Given the description of an element on the screen output the (x, y) to click on. 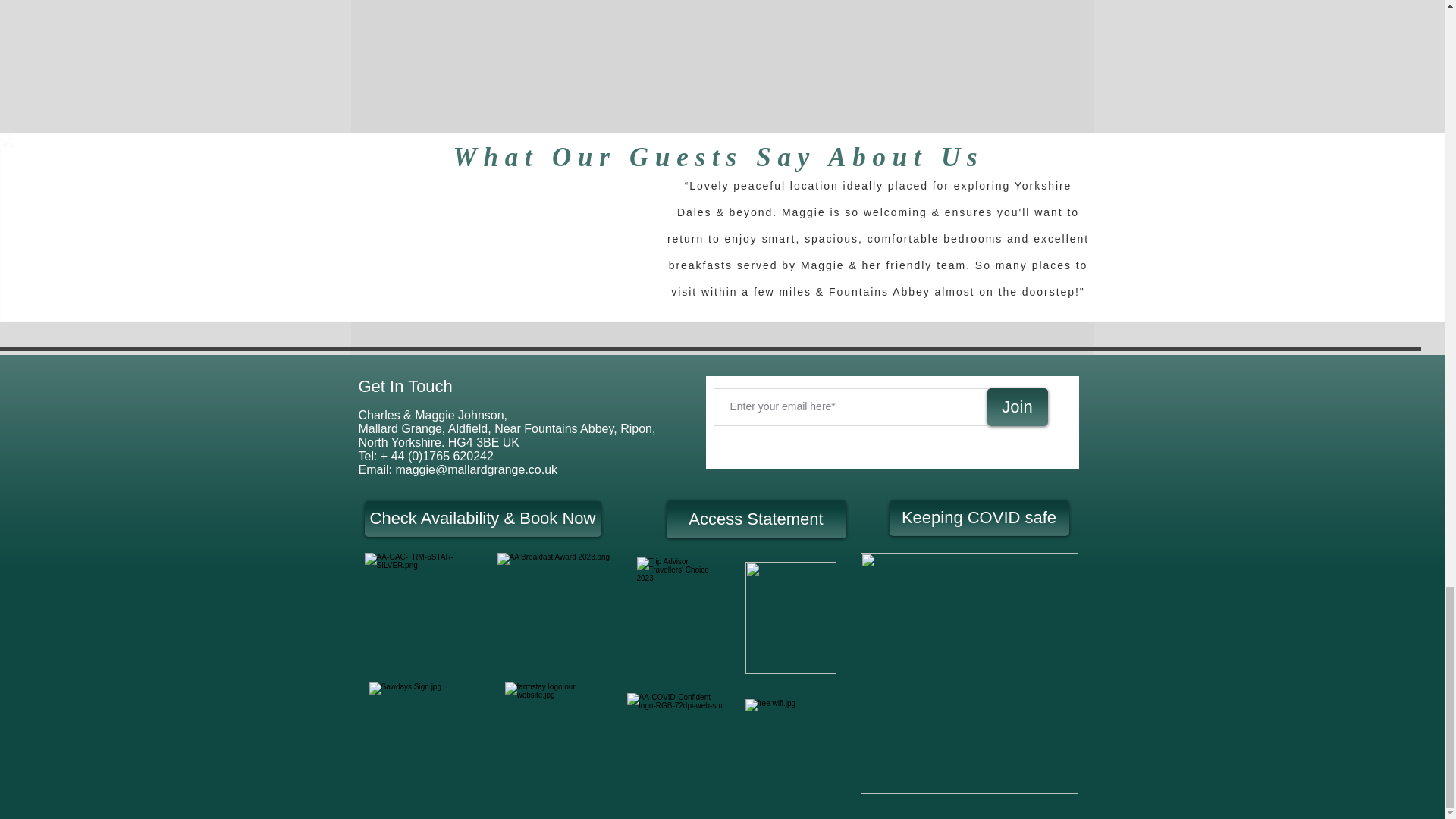
Join (1017, 406)
Access Statement (755, 519)
Keeping COVID safe (978, 518)
AA-BnB-of-the-Year-England-2024.png (968, 672)
